Given the description of an element on the screen output the (x, y) to click on. 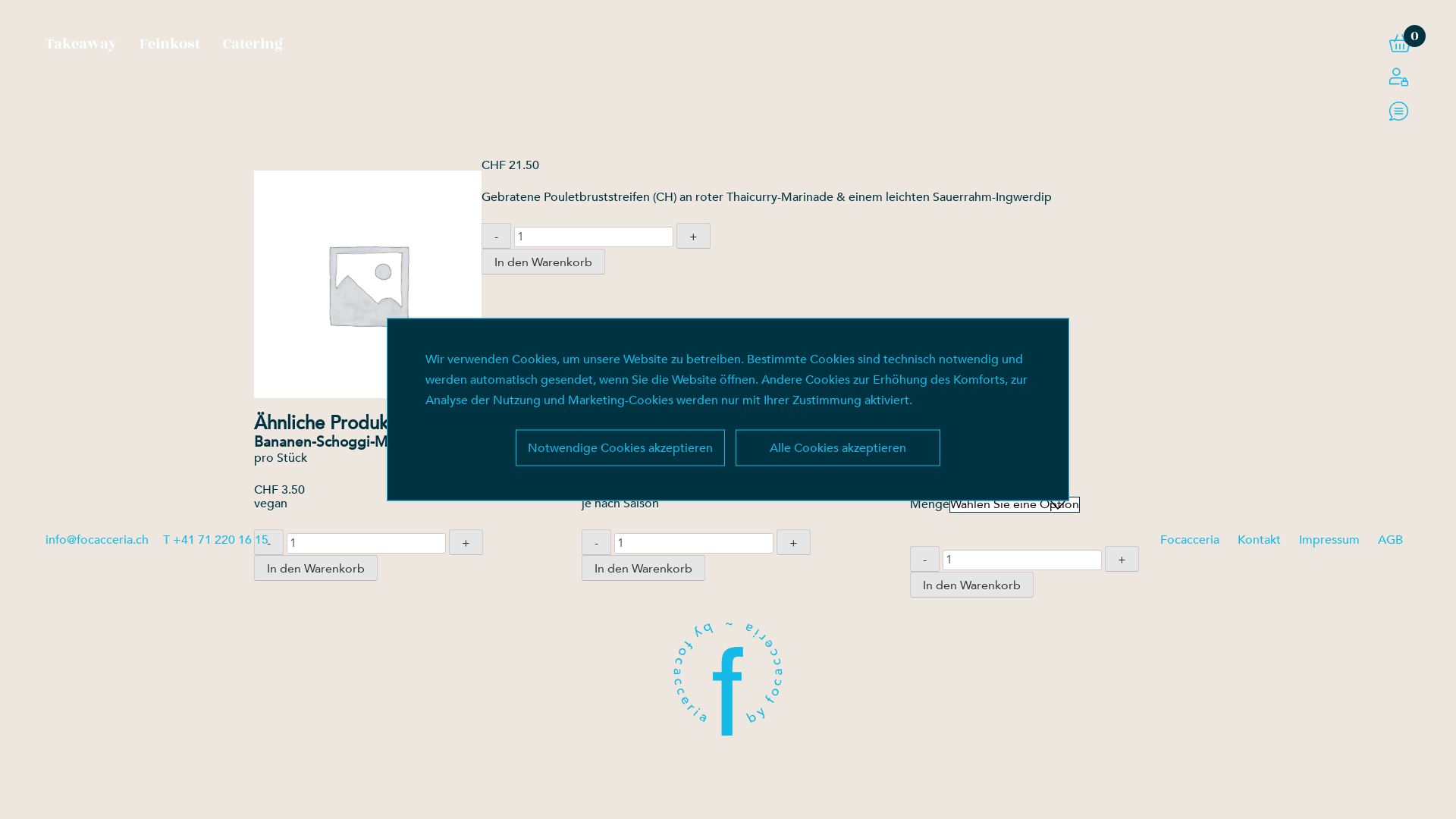
In den Warenkorb Element type: text (543, 261)
Notwendige Cookies akzeptieren Element type: text (619, 447)
Login / Register Element type: hover (1398, 76)
0 Element type: text (1399, 43)
Menge Element type: hover (693, 542)
Feinkost Element type: text (169, 43)
Alle Cookies akzeptieren Element type: text (837, 447)
AGB Element type: text (1389, 539)
info@focacceria.ch Element type: text (96, 539)
Menge Element type: hover (1021, 559)
T +41 71 220 16 15 Element type: text (215, 539)
In den Warenkorb Element type: text (971, 584)
In den Warenkorb Element type: text (643, 567)
Focacceria Element type: text (1189, 539)
In den Warenkorb Element type: text (315, 567)
Takeaway Element type: text (80, 43)
Kontakt Element type: text (1258, 539)
Menge Element type: hover (593, 236)
Impressum Element type: text (1329, 539)
Menge Element type: hover (365, 542)
Catering Element type: text (252, 43)
